Given the description of an element on the screen output the (x, y) to click on. 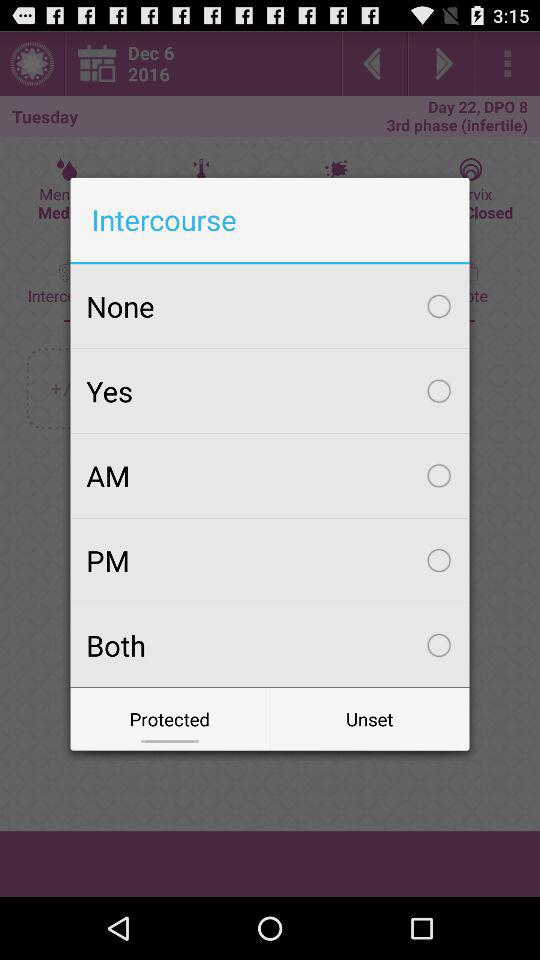
turn on the icon next to unset (169, 718)
